Given the description of an element on the screen output the (x, y) to click on. 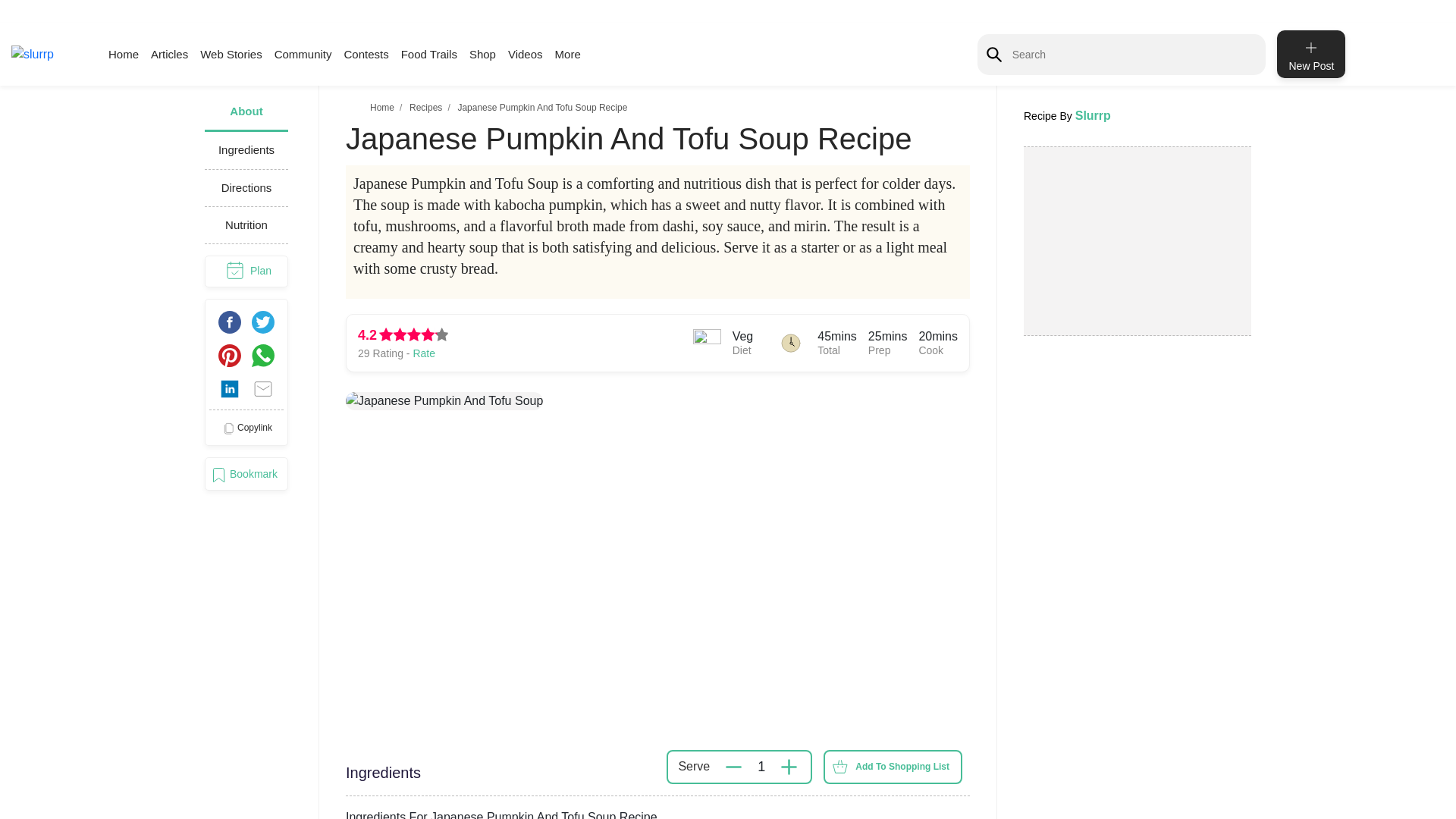
Food Trails (429, 53)
Copylink (246, 427)
Web Stories (231, 53)
Articles (169, 53)
Contests (365, 53)
Recipes (425, 107)
copy link (246, 427)
Home (381, 107)
Shop (482, 53)
Videos (525, 53)
